Given the description of an element on the screen output the (x, y) to click on. 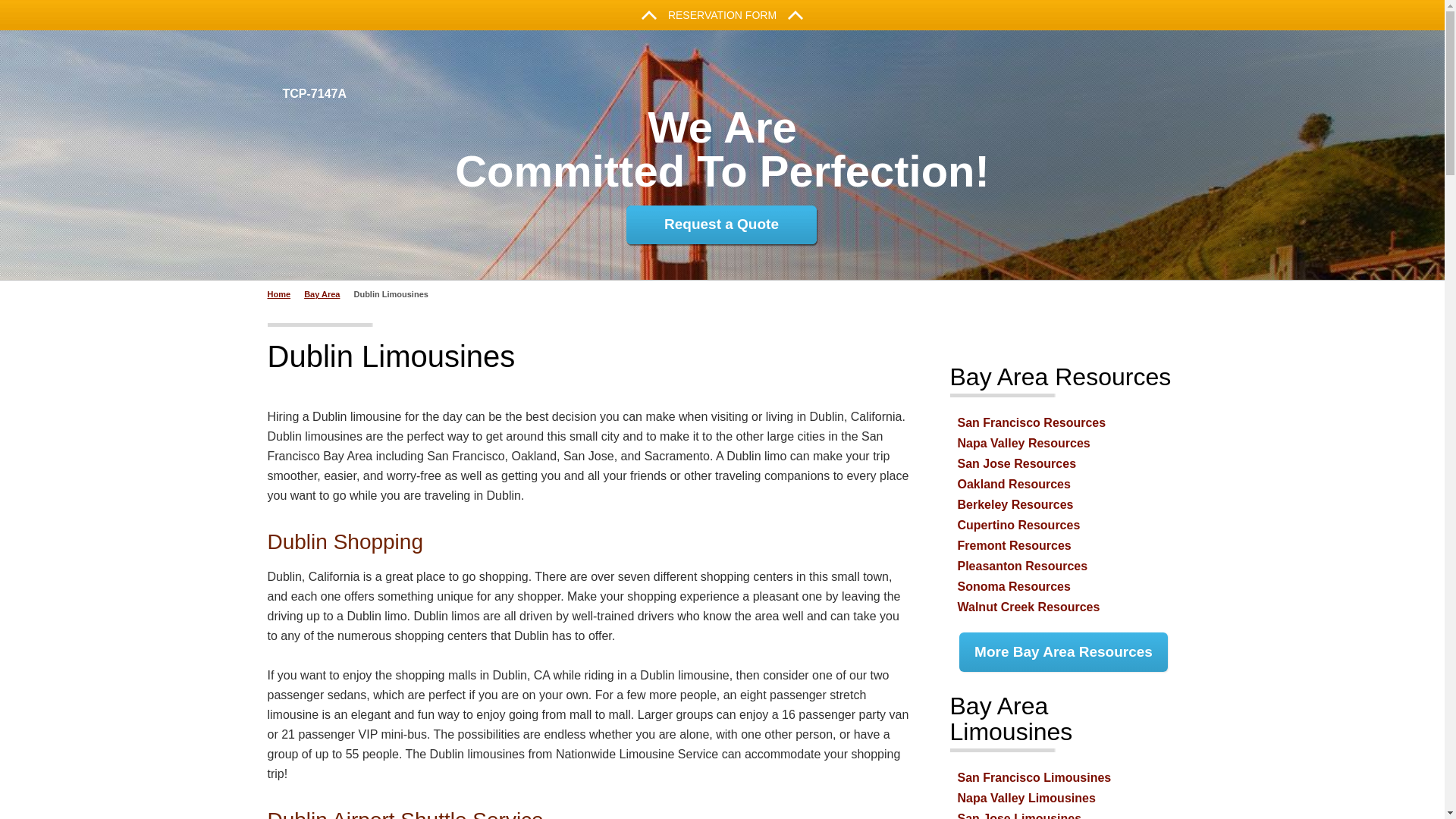
Napa Valley Resources (1022, 442)
San Francisco Resources (1030, 422)
Bay Area Resources (1059, 376)
Home (721, 15)
Bay Area (282, 293)
Request a Quote (326, 293)
